Given the description of an element on the screen output the (x, y) to click on. 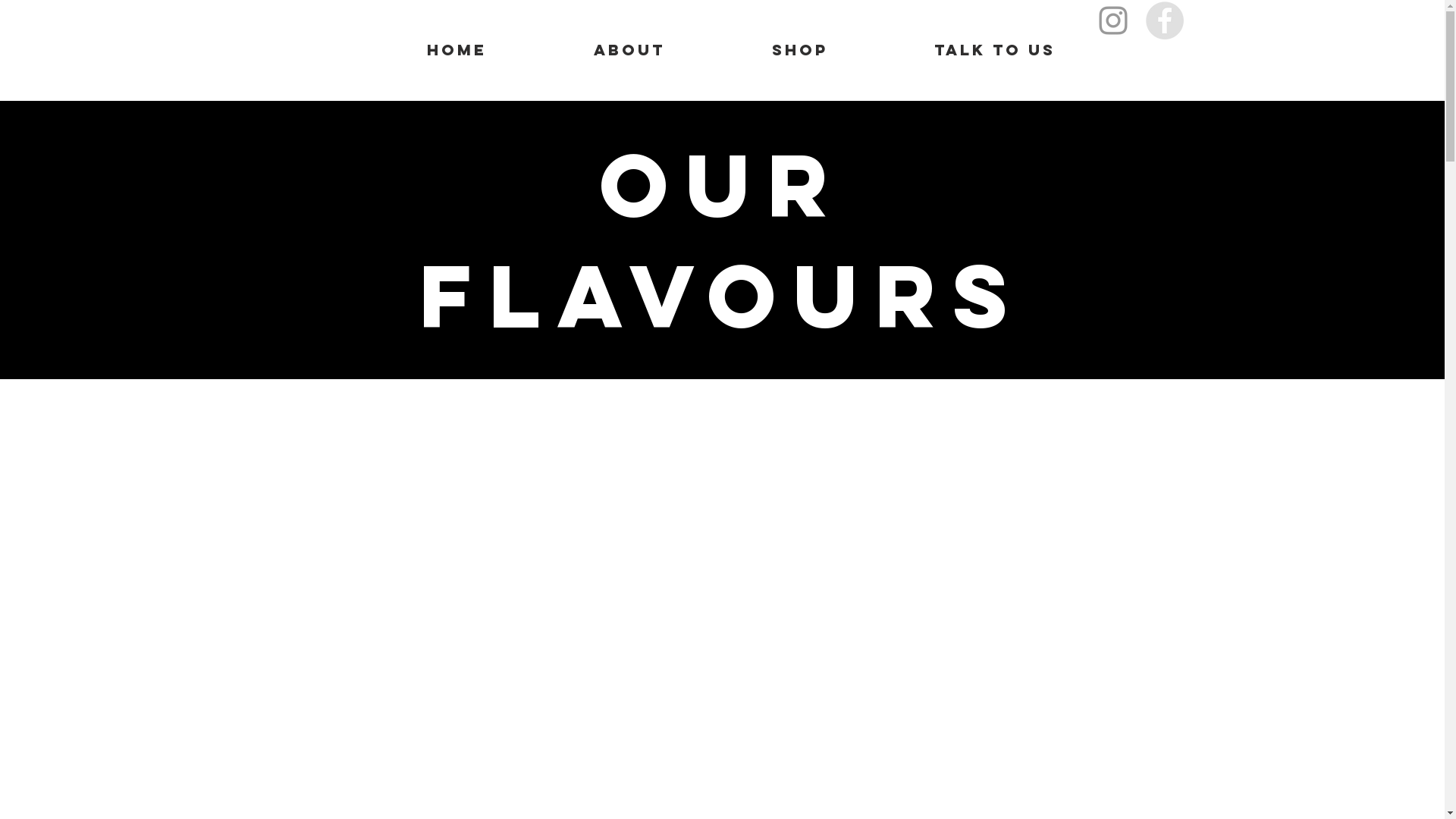
Talk to us Element type: text (994, 50)
Shop Element type: text (799, 50)
About Element type: text (628, 50)
Home Element type: text (456, 50)
